Given the description of an element on the screen output the (x, y) to click on. 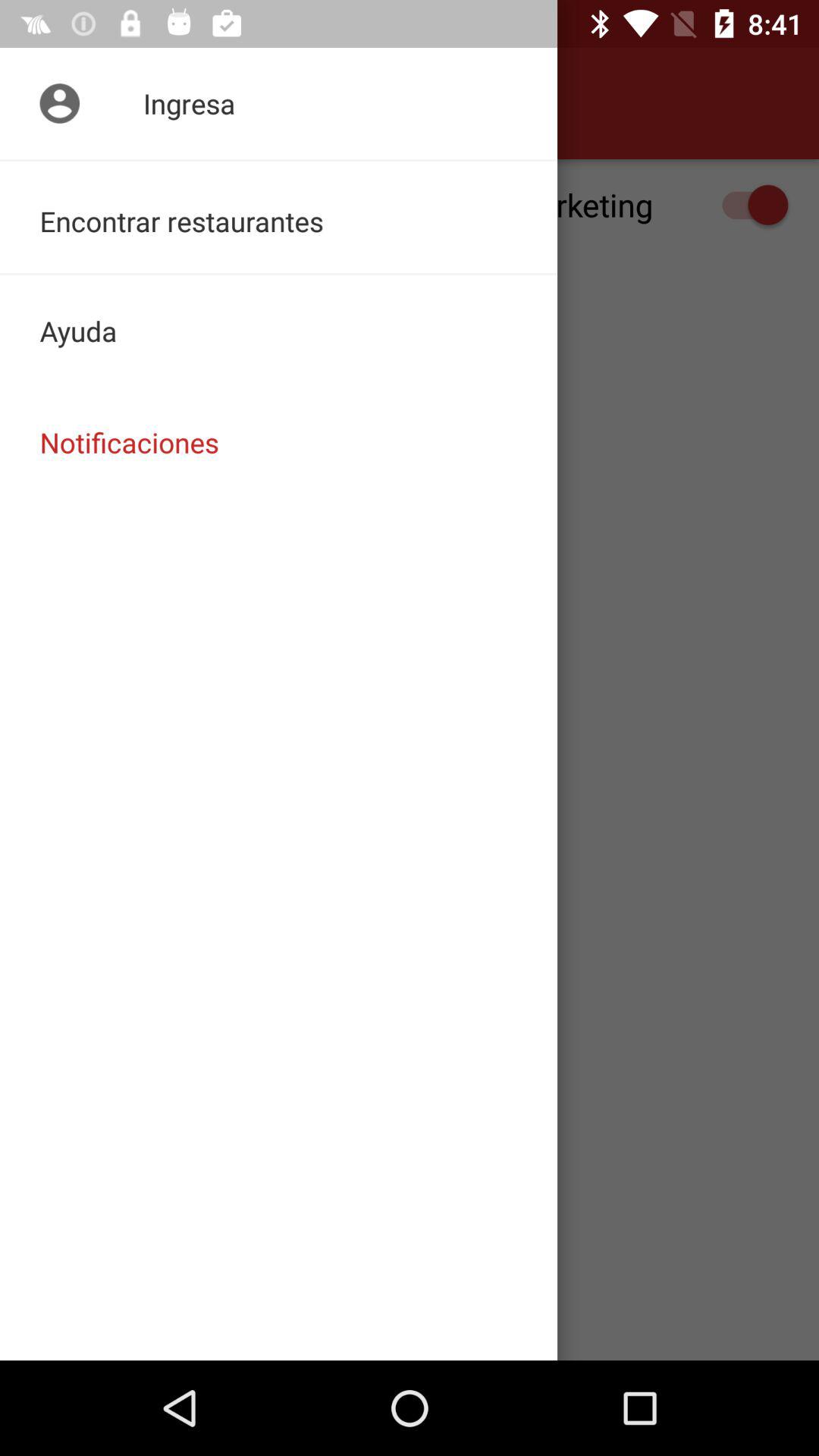
turn off the recibir notificaciones de icon (409, 204)
